Given the description of an element on the screen output the (x, y) to click on. 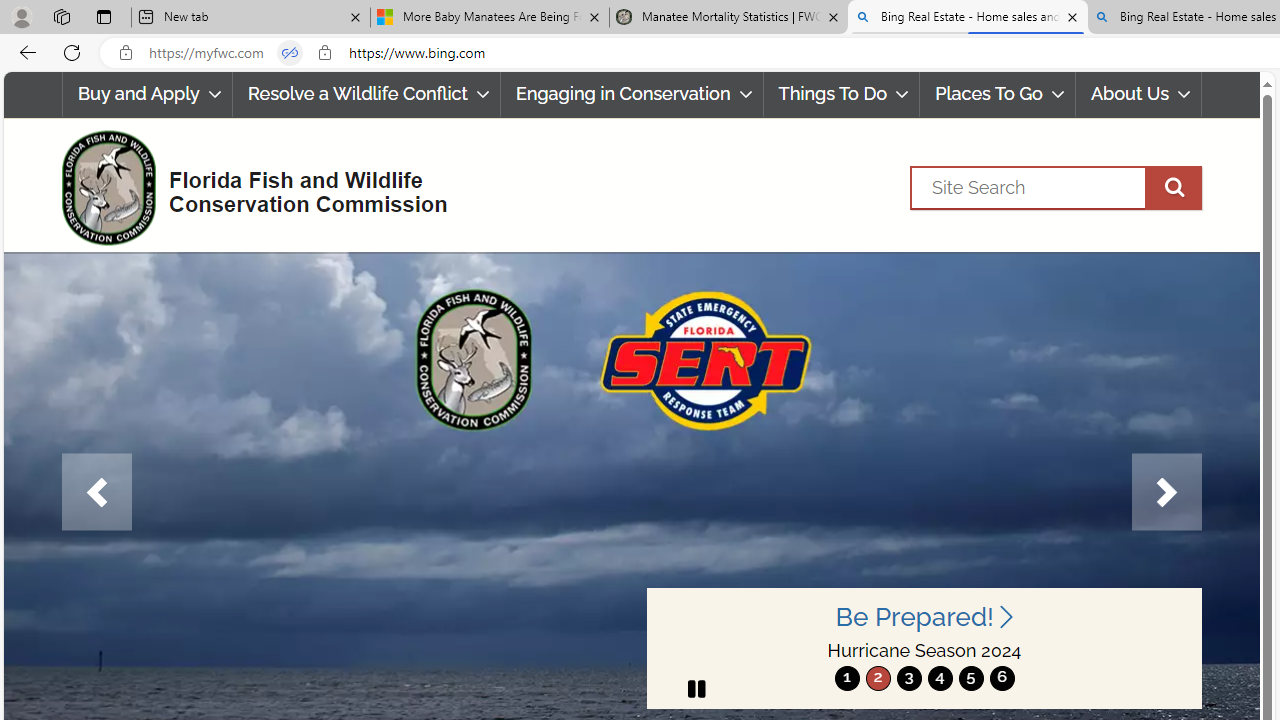
2 (877, 678)
3 (908, 678)
Resolve a Wildlife Conflict (365, 94)
1 (847, 678)
Next (1166, 491)
About Us (1139, 94)
6 (1002, 678)
Engaging in Conservation (631, 94)
move to slide 6 (1002, 678)
About Us (1138, 94)
move to slide 1 (847, 678)
FWC Logo Florida Fish and Wildlife Conservation Commission (246, 185)
Engaging in Conservation (632, 94)
Tabs in split screen (289, 53)
Be Prepared!  (923, 616)
